Given the description of an element on the screen output the (x, y) to click on. 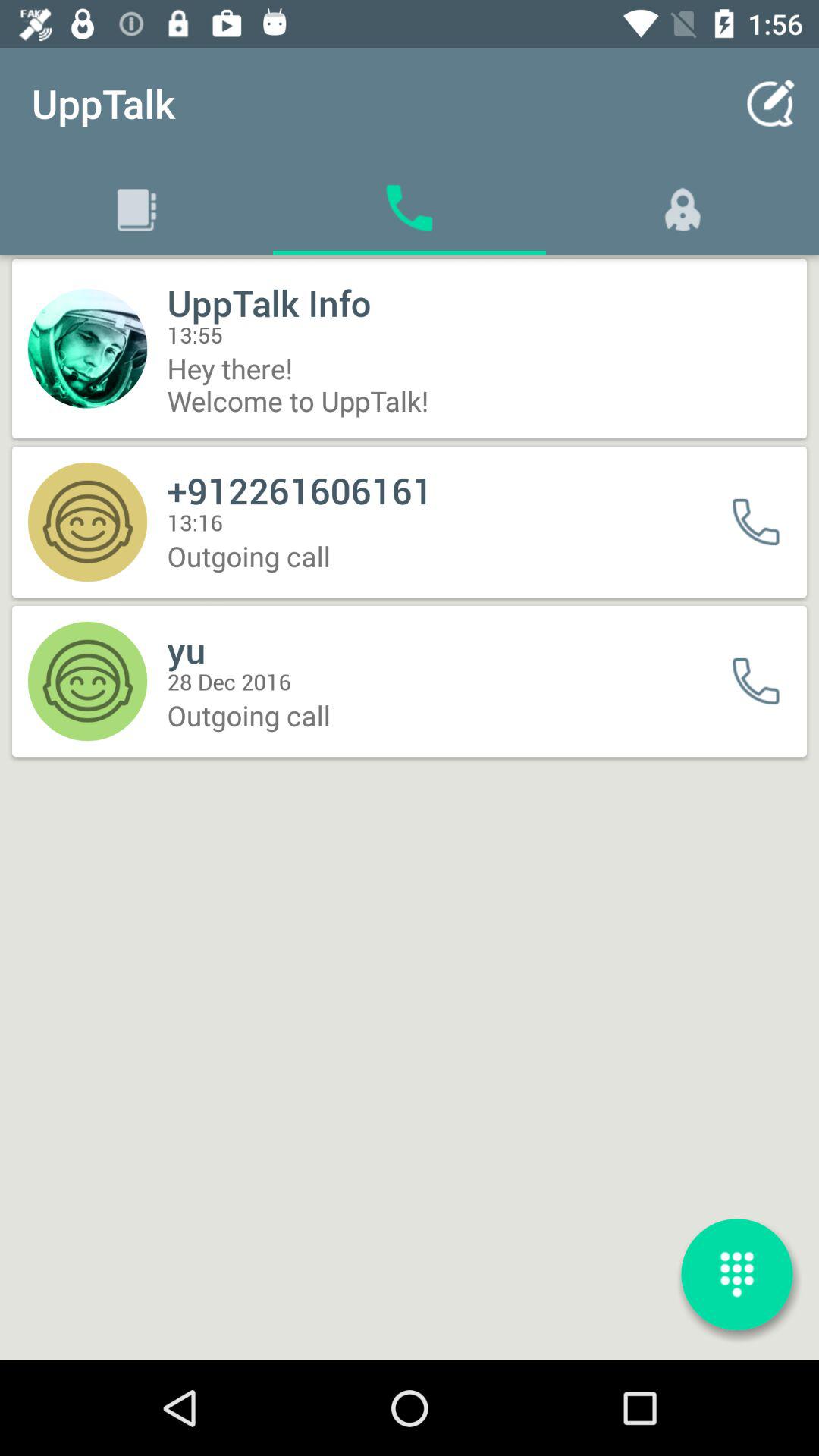
click to call button (765, 681)
